Given the description of an element on the screen output the (x, y) to click on. 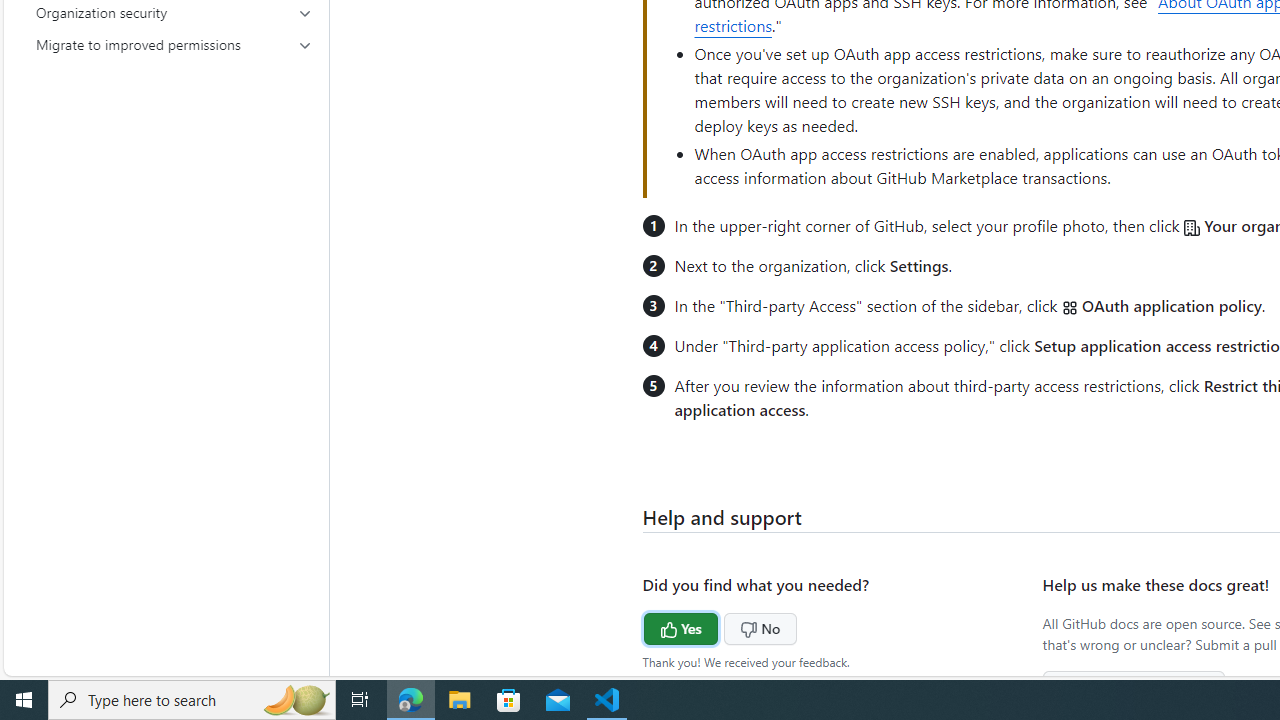
No (722, 625)
Make a contribution (1133, 686)
Yes (643, 625)
Migrate to improved permissions (174, 44)
Migrate to improved permissions (174, 44)
